Given the description of an element on the screen output the (x, y) to click on. 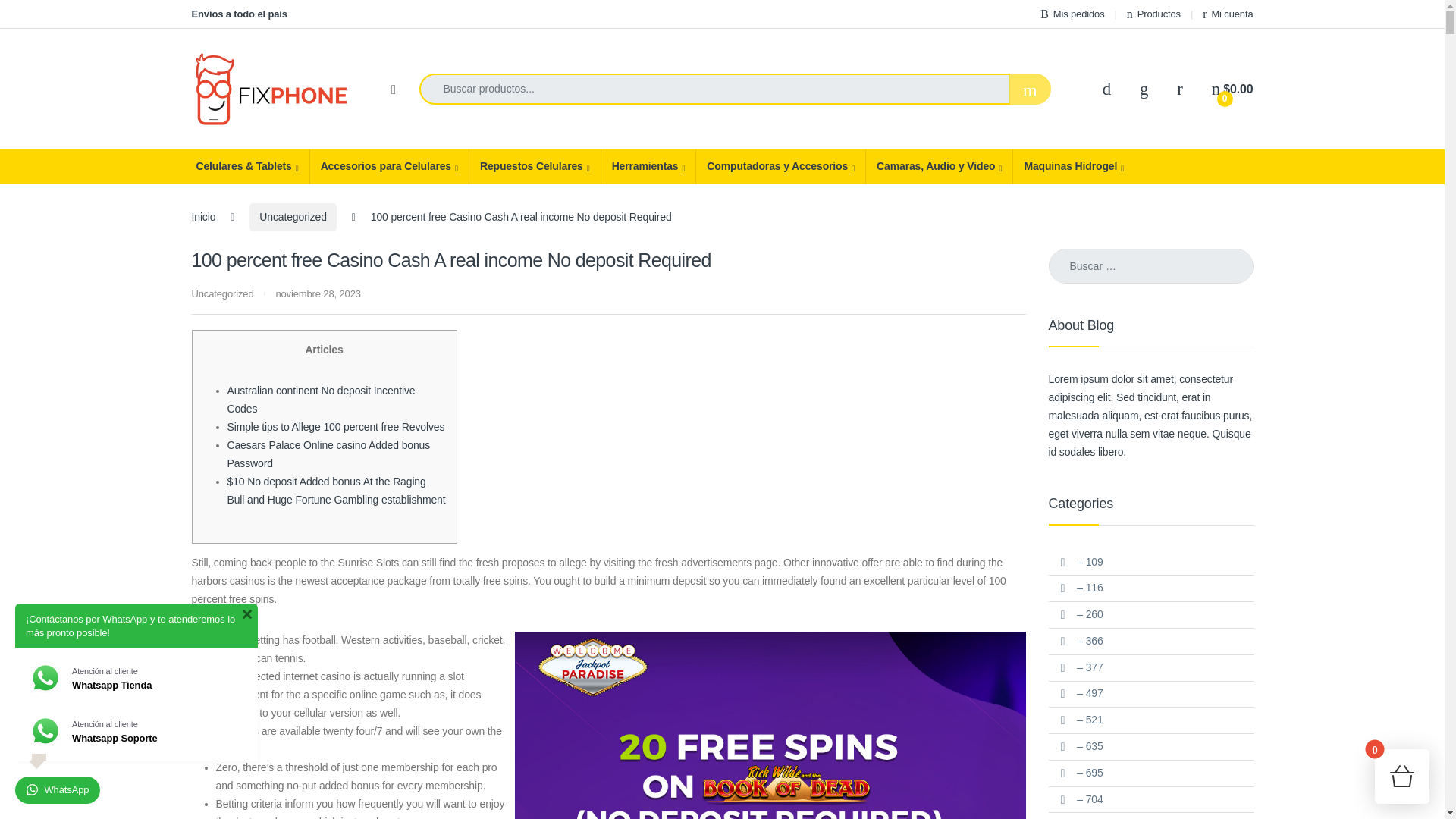
Mi cuenta (1227, 13)
Mis pedidos (1072, 13)
Mis pedidos (1072, 13)
Mi cuenta (1227, 13)
Productos (1153, 13)
Productos (1153, 13)
